Given the description of an element on the screen output the (x, y) to click on. 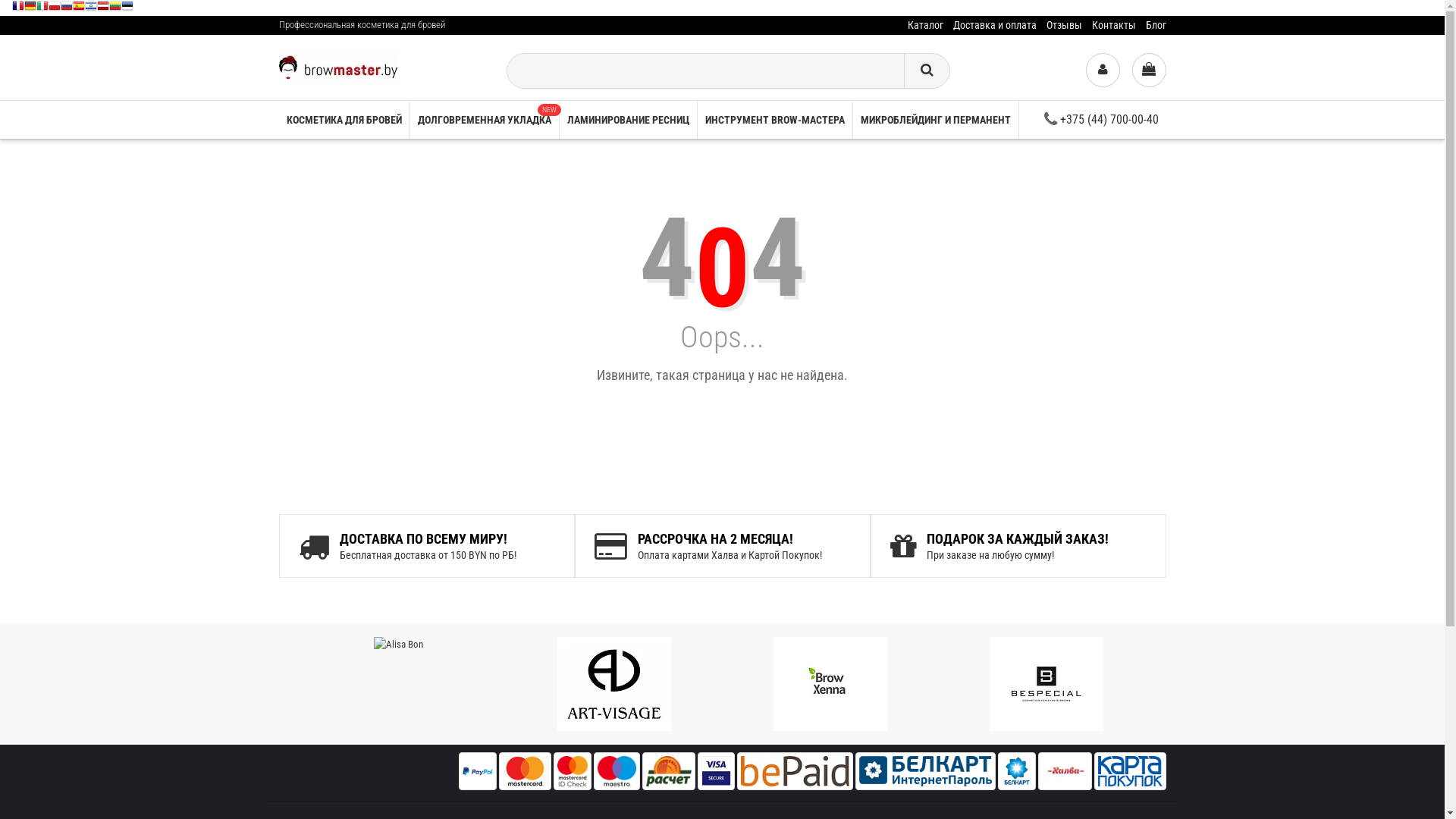
master id check Element type: hover (572, 771)
+375 (44) 700-00-40 Element type: text (1100, 119)
Browmaster Element type: hover (338, 66)
PayPal Element type: hover (477, 771)
bepaid Element type: hover (795, 771)
Visa Element type: hover (715, 771)
Maestro Element type: hover (616, 771)
Master Card Element type: hover (524, 771)
